Given the description of an element on the screen output the (x, y) to click on. 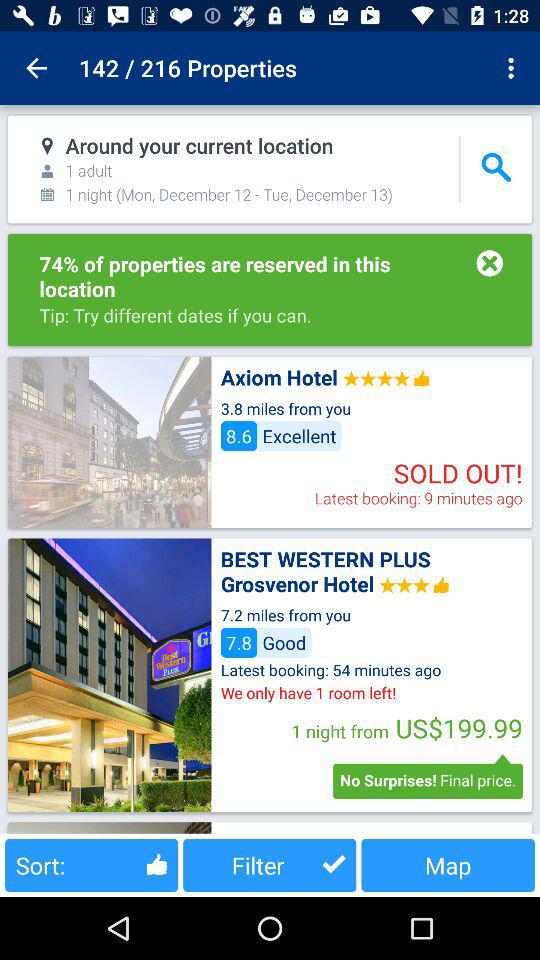
scroll until the map icon (447, 864)
